Given the description of an element on the screen output the (x, y) to click on. 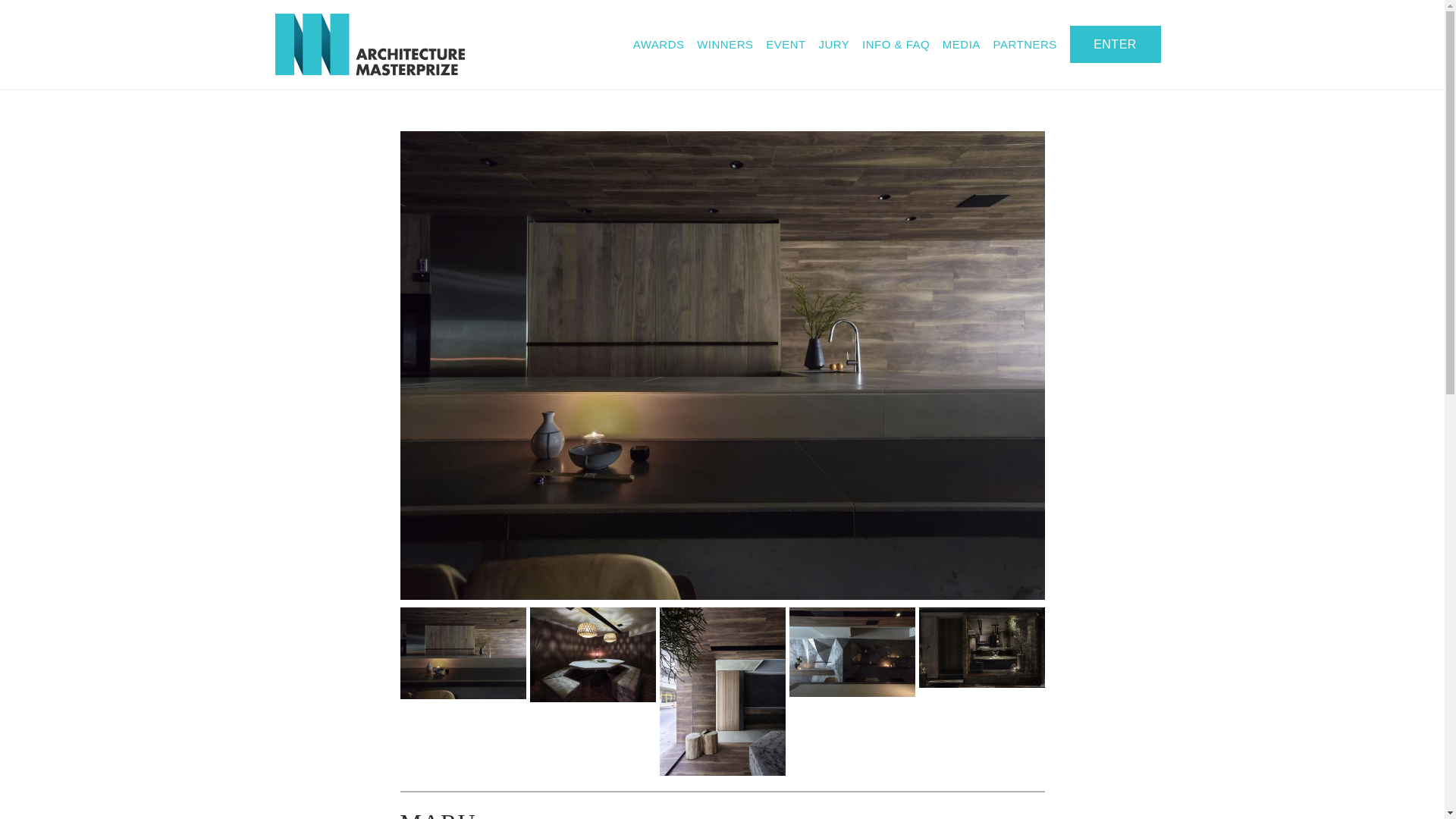
WINNERS (724, 44)
EVENT (785, 44)
ENTER (1114, 44)
MEDIA (960, 44)
AWARDS (658, 44)
JURY (833, 44)
PARTNERS (1024, 44)
